Given the description of an element on the screen output the (x, y) to click on. 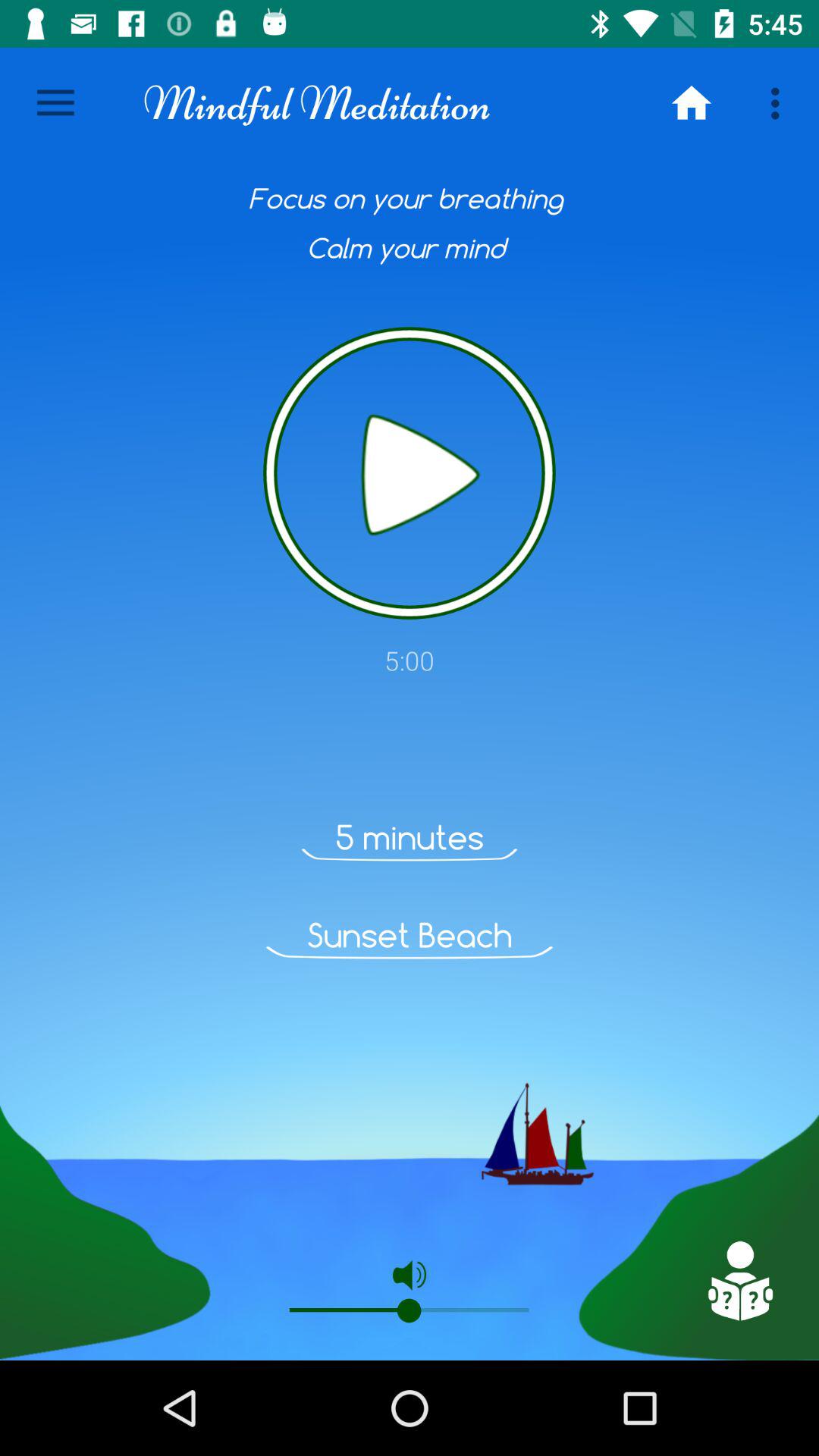
launch item below the focus on your icon (409, 472)
